Given the description of an element on the screen output the (x, y) to click on. 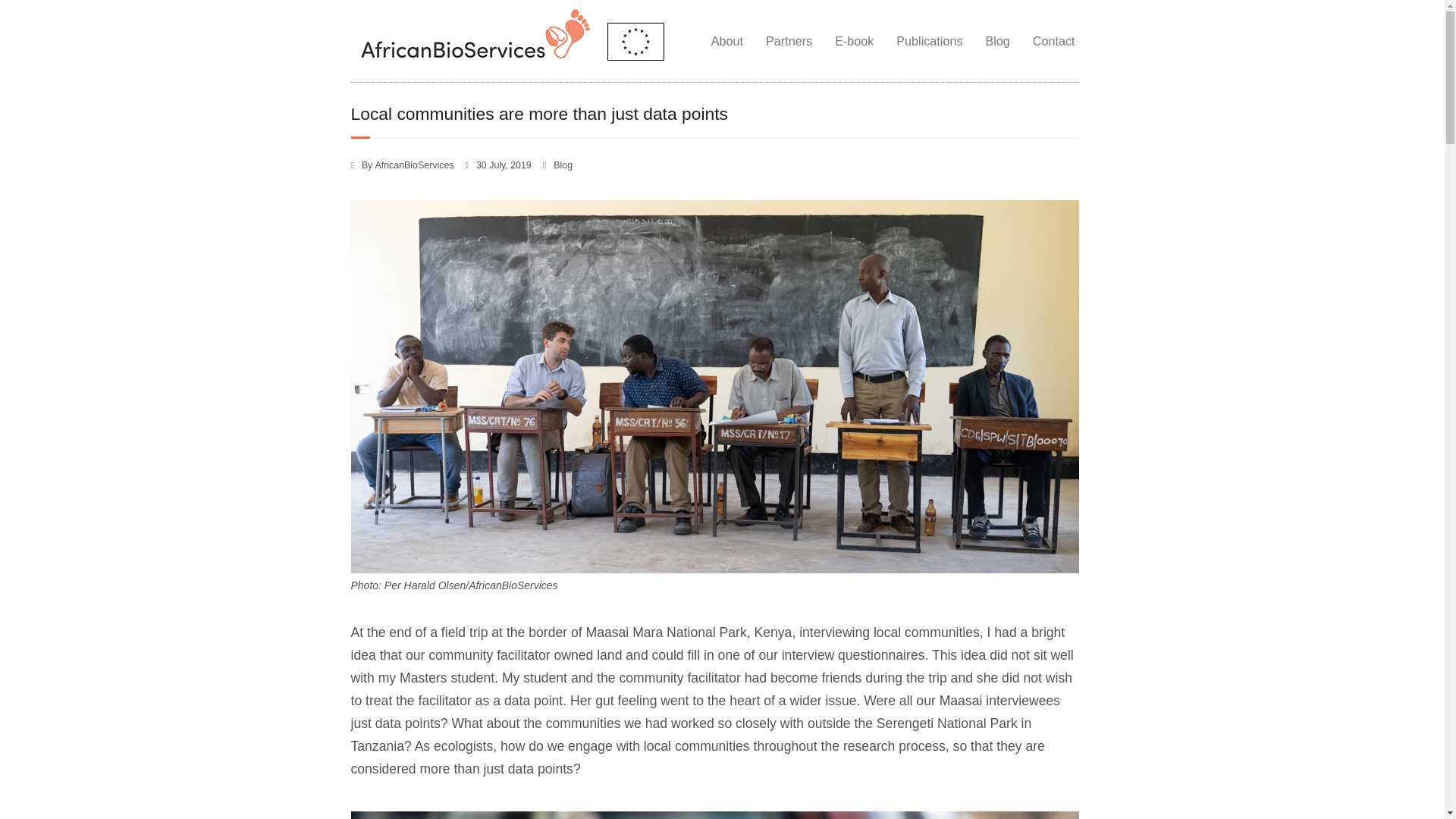
View all posts by AfricanBioServices (414, 164)
30 July, 2019 (503, 164)
AfricanBioServices (414, 164)
Publications (929, 40)
Blog (562, 164)
Local communities are more than just data points (503, 164)
